Given the description of an element on the screen output the (x, y) to click on. 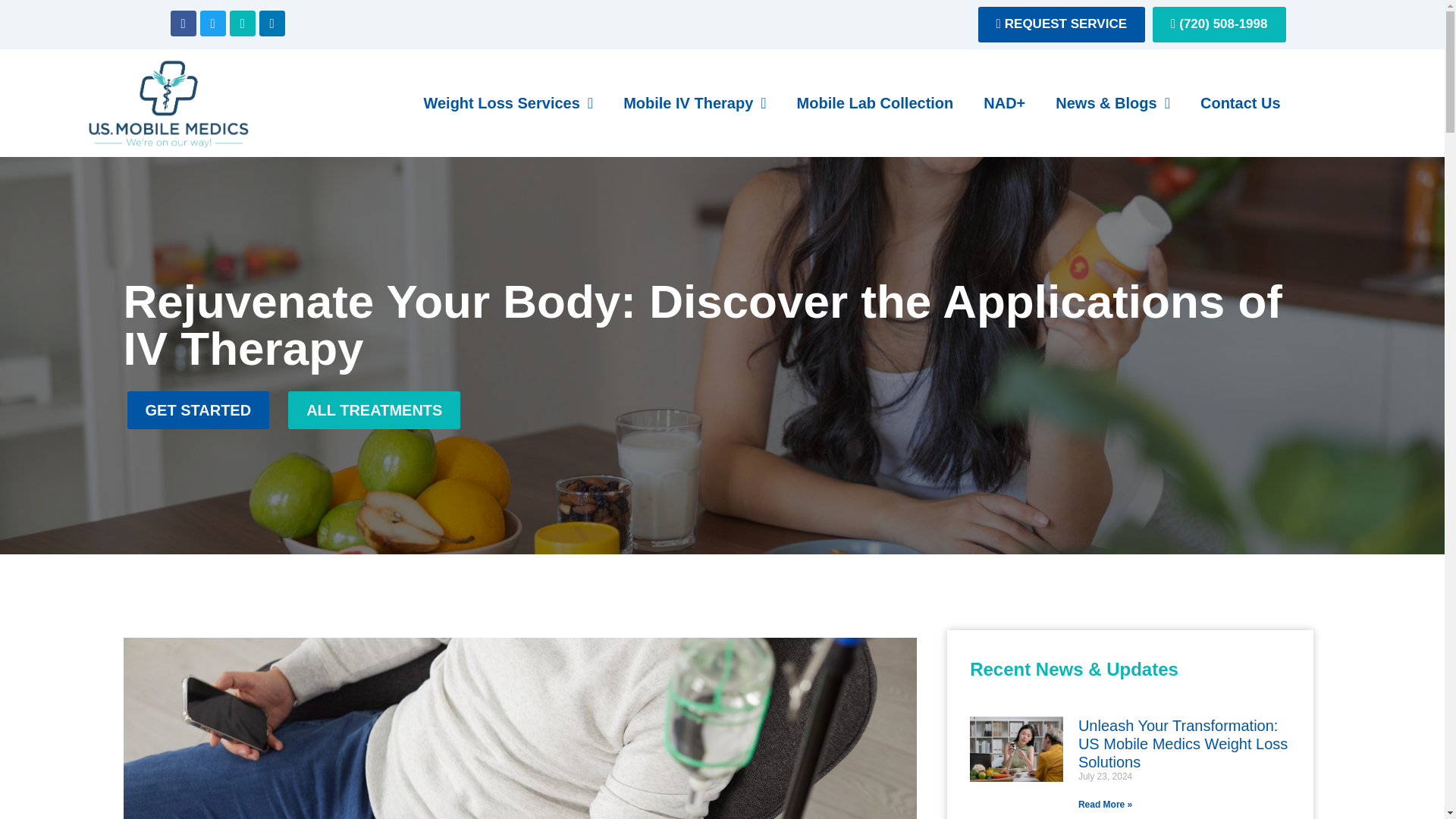
Mobile Lab Collection (875, 102)
Twitter (212, 23)
Weight Loss Services (507, 102)
Linkedin (272, 23)
REQUEST SERVICE (1061, 24)
Facebook (182, 23)
Instagram (241, 23)
Contact Us (1240, 102)
Mobile IV Therapy (694, 102)
